Given the description of an element on the screen output the (x, y) to click on. 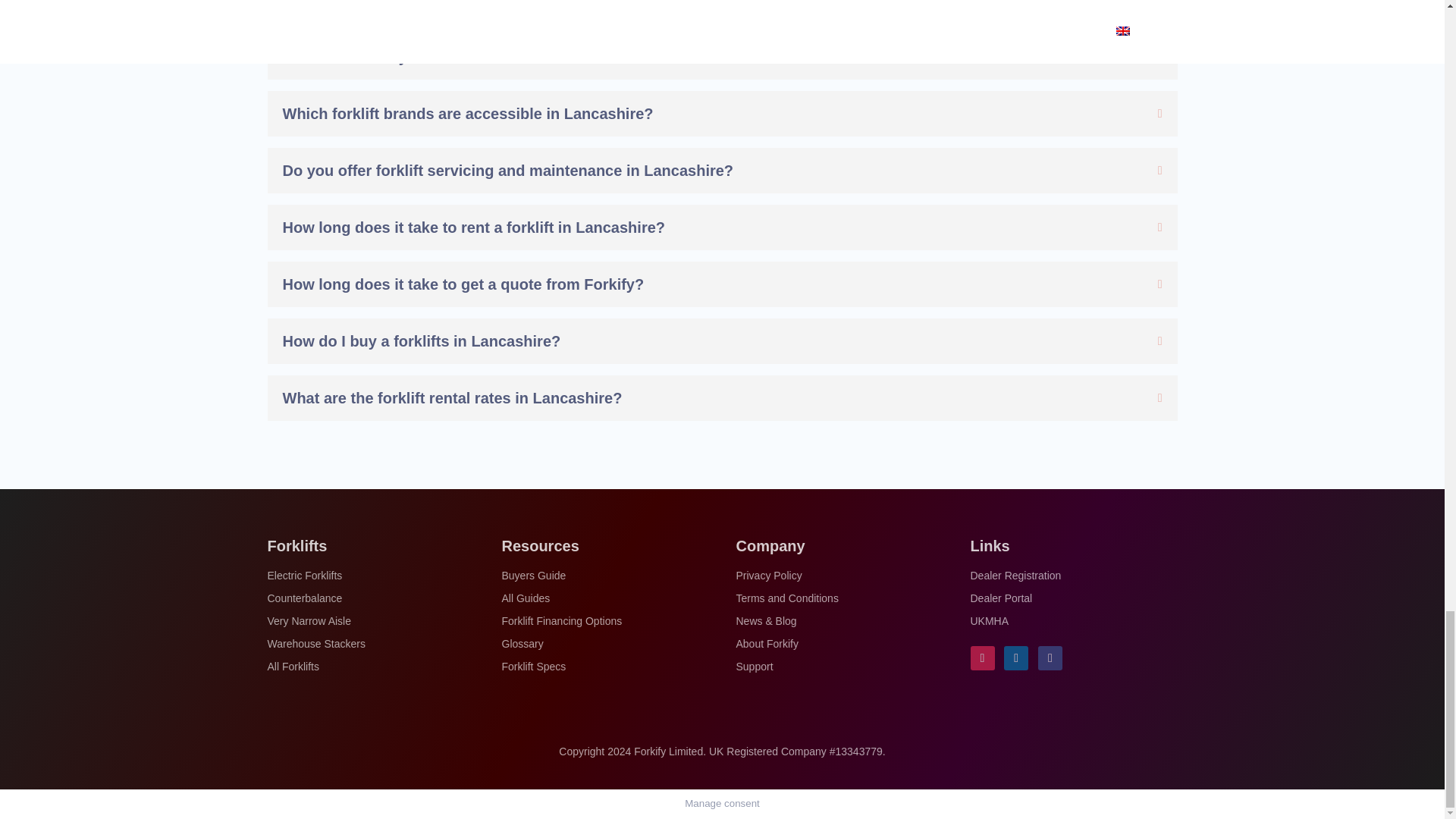
Forklift Financing Options (562, 623)
Warehouse Stackers (315, 646)
Buyers Guide (534, 578)
Very Narrow Aisle (308, 623)
Follow on LinkedIn (1015, 658)
Electric Forklifts (304, 578)
Forklift Specs (534, 669)
Follow on Facebook (1050, 658)
Counterbalance (304, 600)
Follow on Instagram (982, 658)
